Given the description of an element on the screen output the (x, y) to click on. 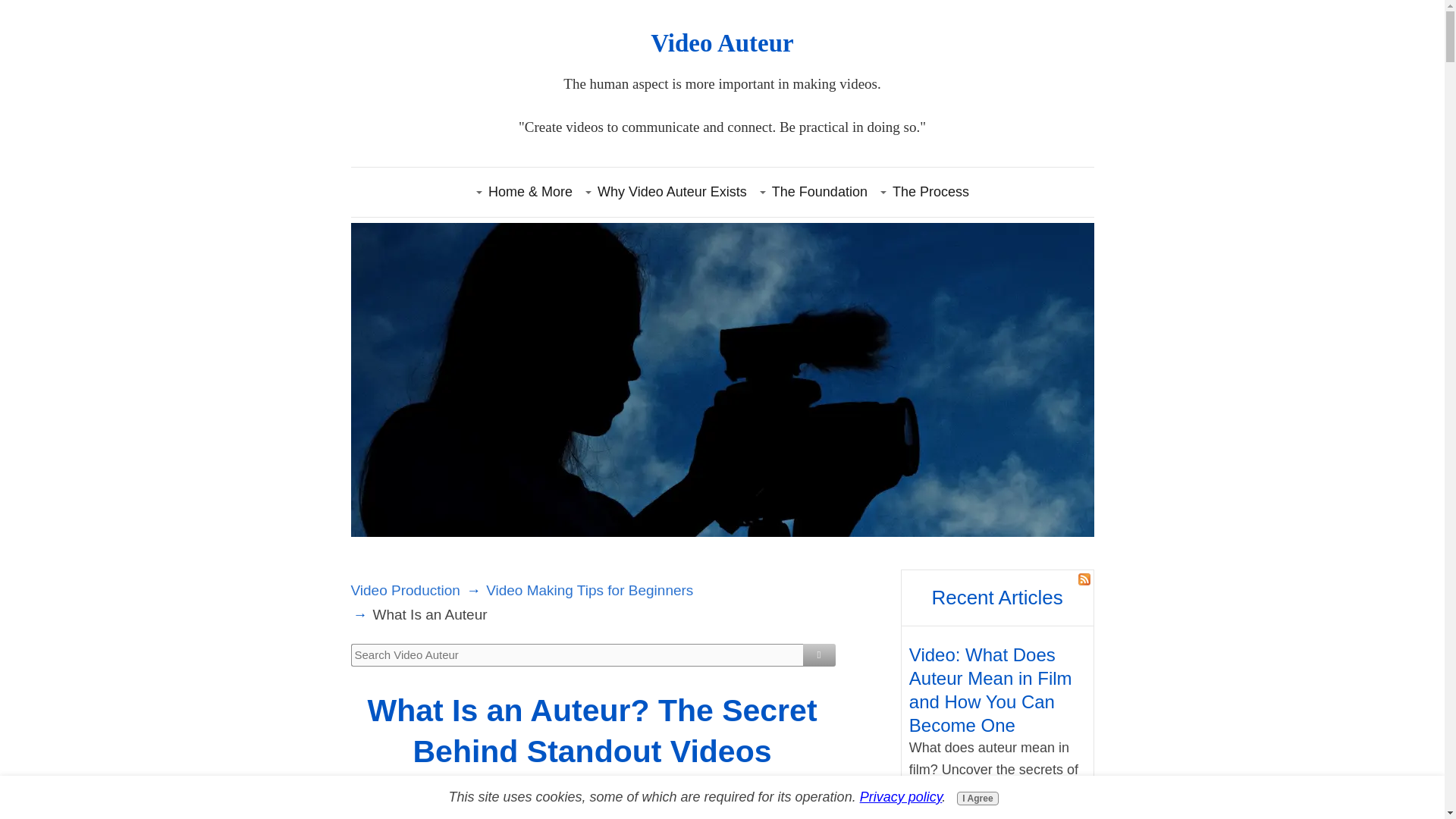
Alvin Motilla (600, 798)
Video Production (405, 590)
Video Auteur (721, 42)
Video Making Tips for Beginners (589, 590)
Recent Articles (996, 597)
